Given the description of an element on the screen output the (x, y) to click on. 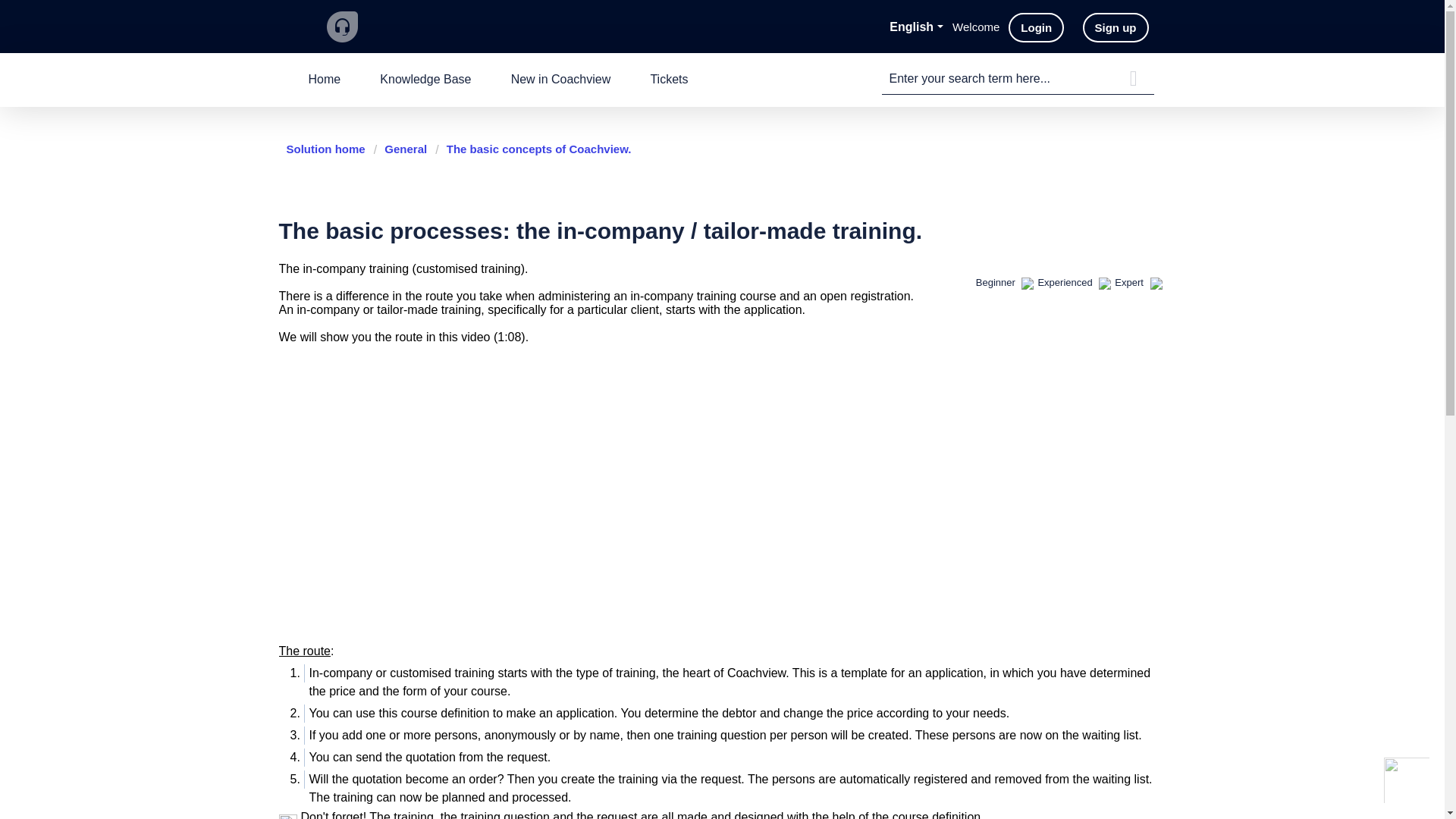
Login (1036, 27)
General (400, 148)
The basic concepts of Coachview. (532, 148)
Sign up (1115, 27)
Solution home (327, 148)
Tickets (668, 80)
Knowledge Base (425, 80)
New in Coachview (560, 80)
Home (323, 80)
